Given the description of an element on the screen output the (x, y) to click on. 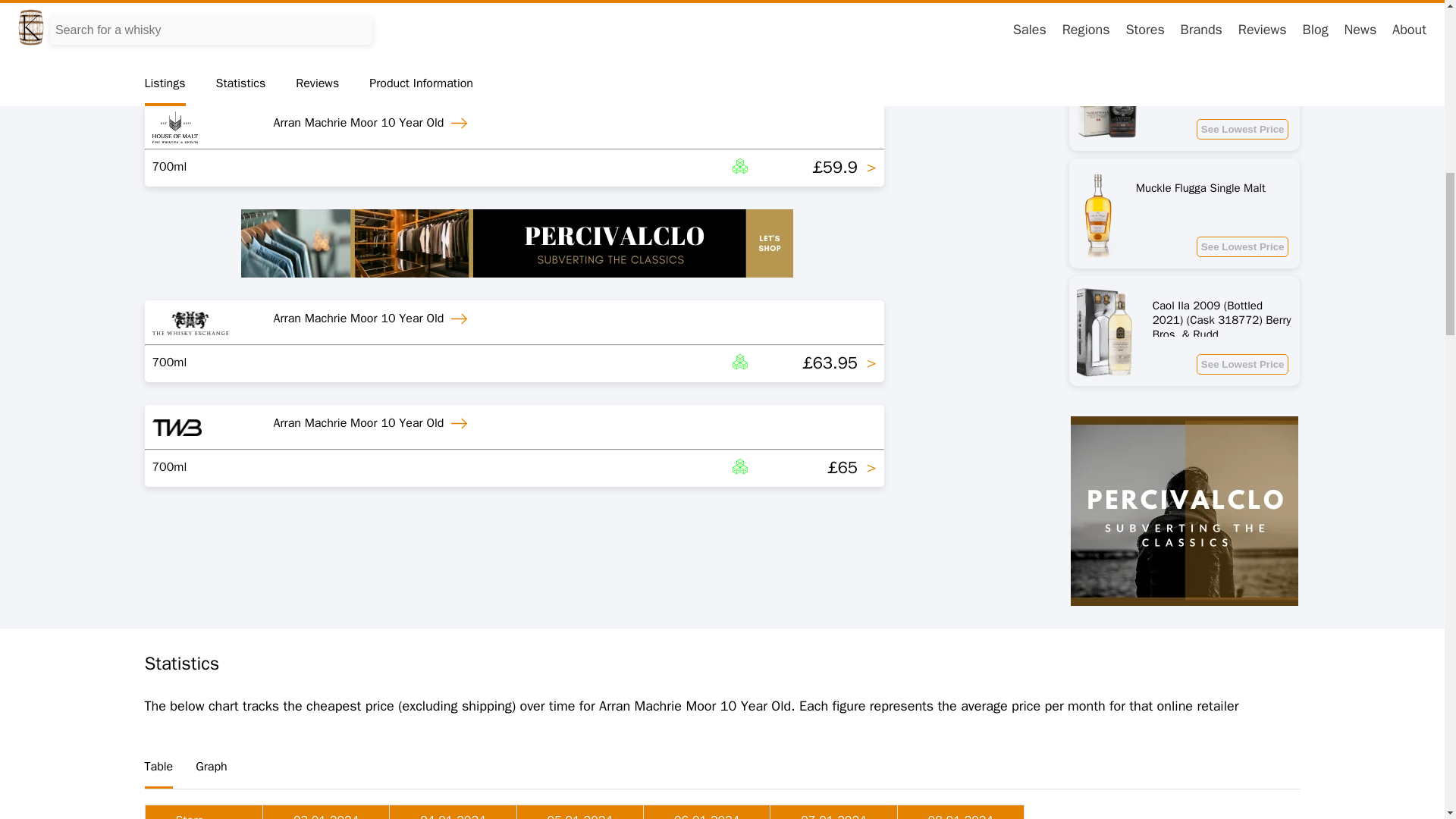
Arran Machrie Moor 10 Year Old (373, 18)
In Stock (639, 167)
Arran Machrie Moor 10 Year Old (373, 123)
In Stock (639, 62)
In Stock (639, 467)
Arran Machrie Moor 10 Year Old (373, 423)
Arran Machrie Moor 10 Year Old (373, 318)
In Stock (639, 363)
